Given the description of an element on the screen output the (x, y) to click on. 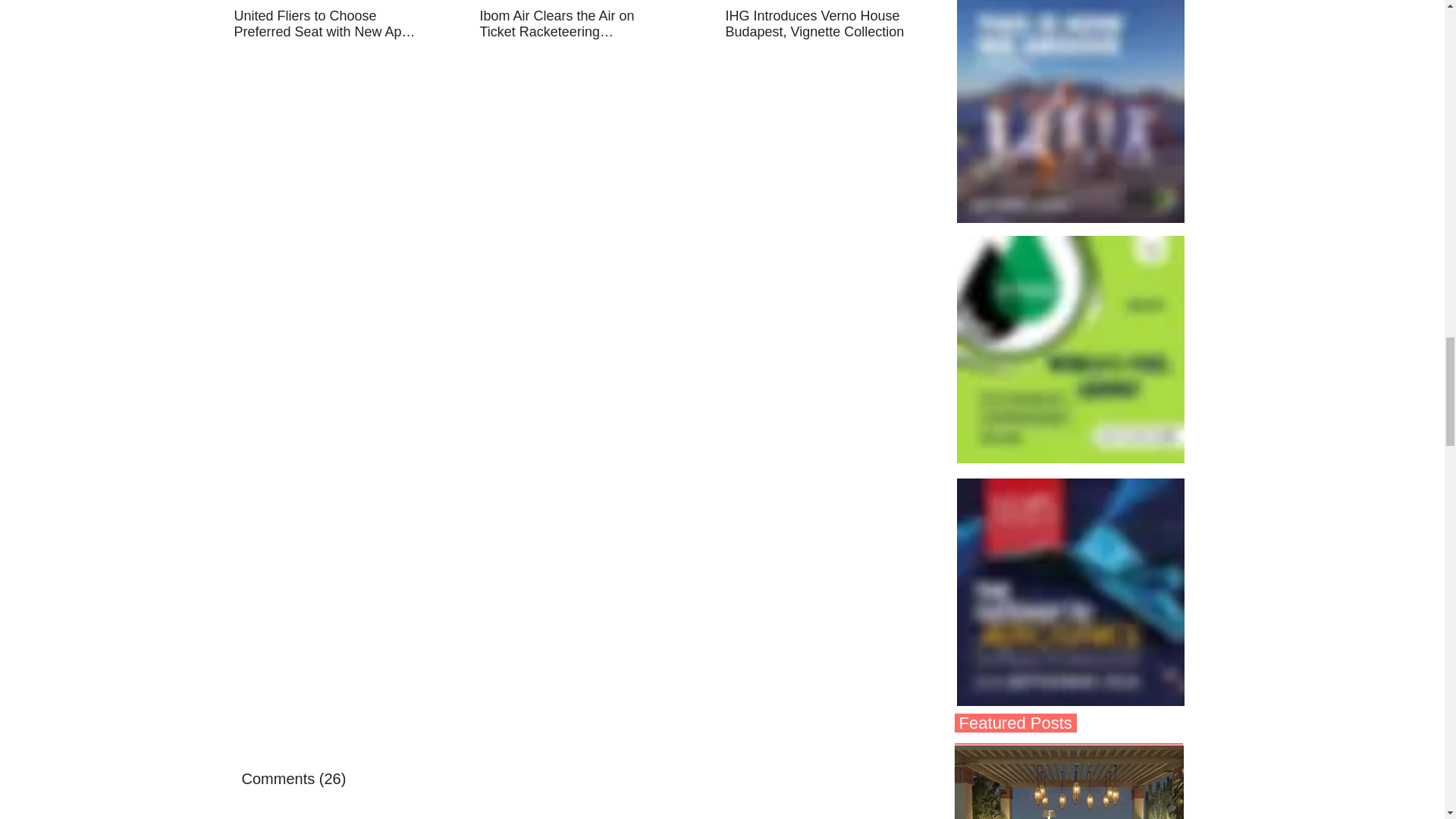
Ibom Air Clears the Air on Ticket Racketeering Allegations (570, 24)
IHG Introduces Verno House Budapest, Vignette Collection (816, 24)
United Fliers to Choose Preferred Seat with New App Feature (324, 24)
